Given the description of an element on the screen output the (x, y) to click on. 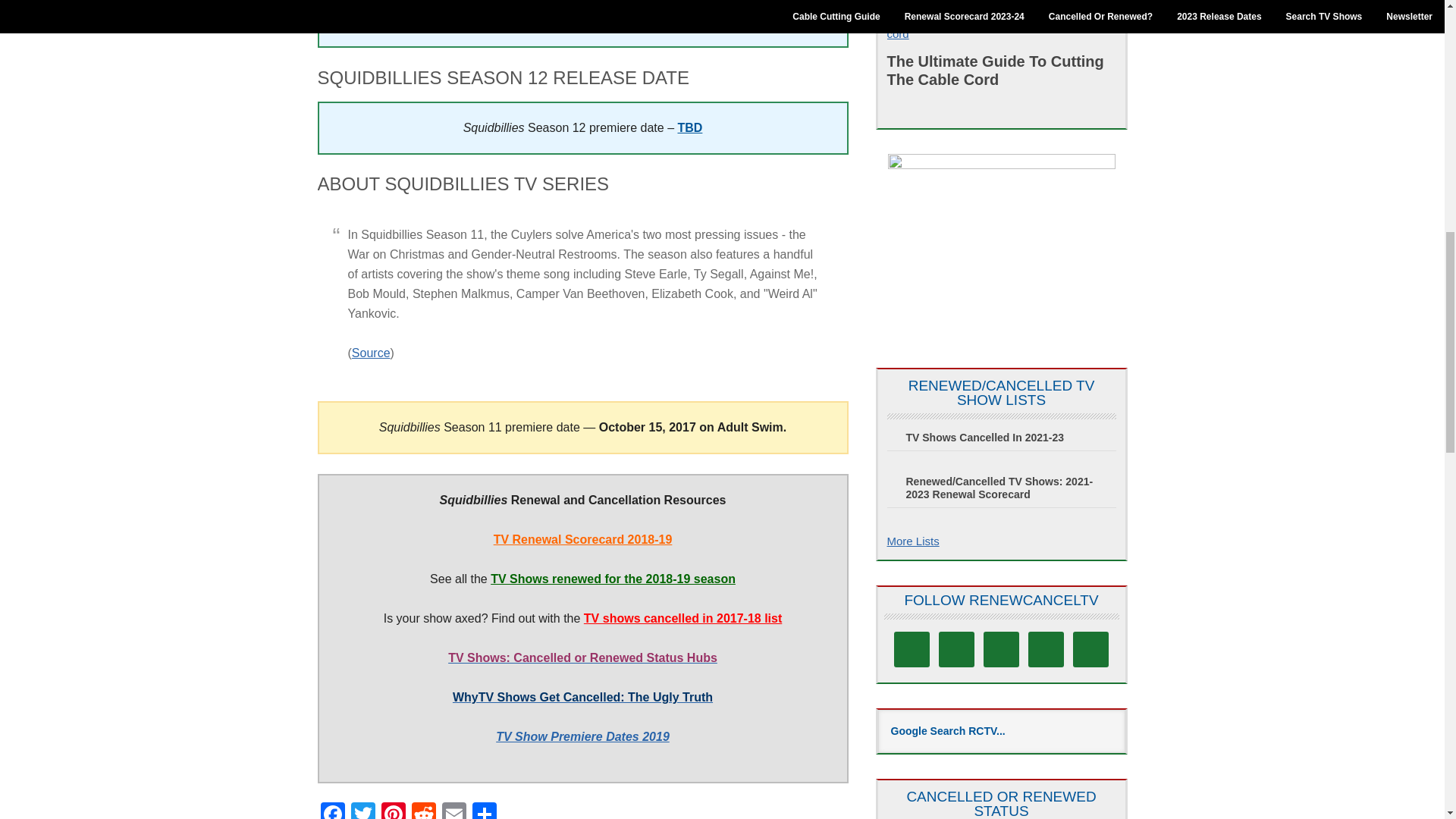
Source (371, 352)
Twitter (362, 810)
Email (453, 810)
Reddit (422, 810)
Facebook (332, 810)
Pinterest (392, 810)
Google Search RCTV... (1001, 731)
Google Search RCTV... (1001, 731)
